Given the description of an element on the screen output the (x, y) to click on. 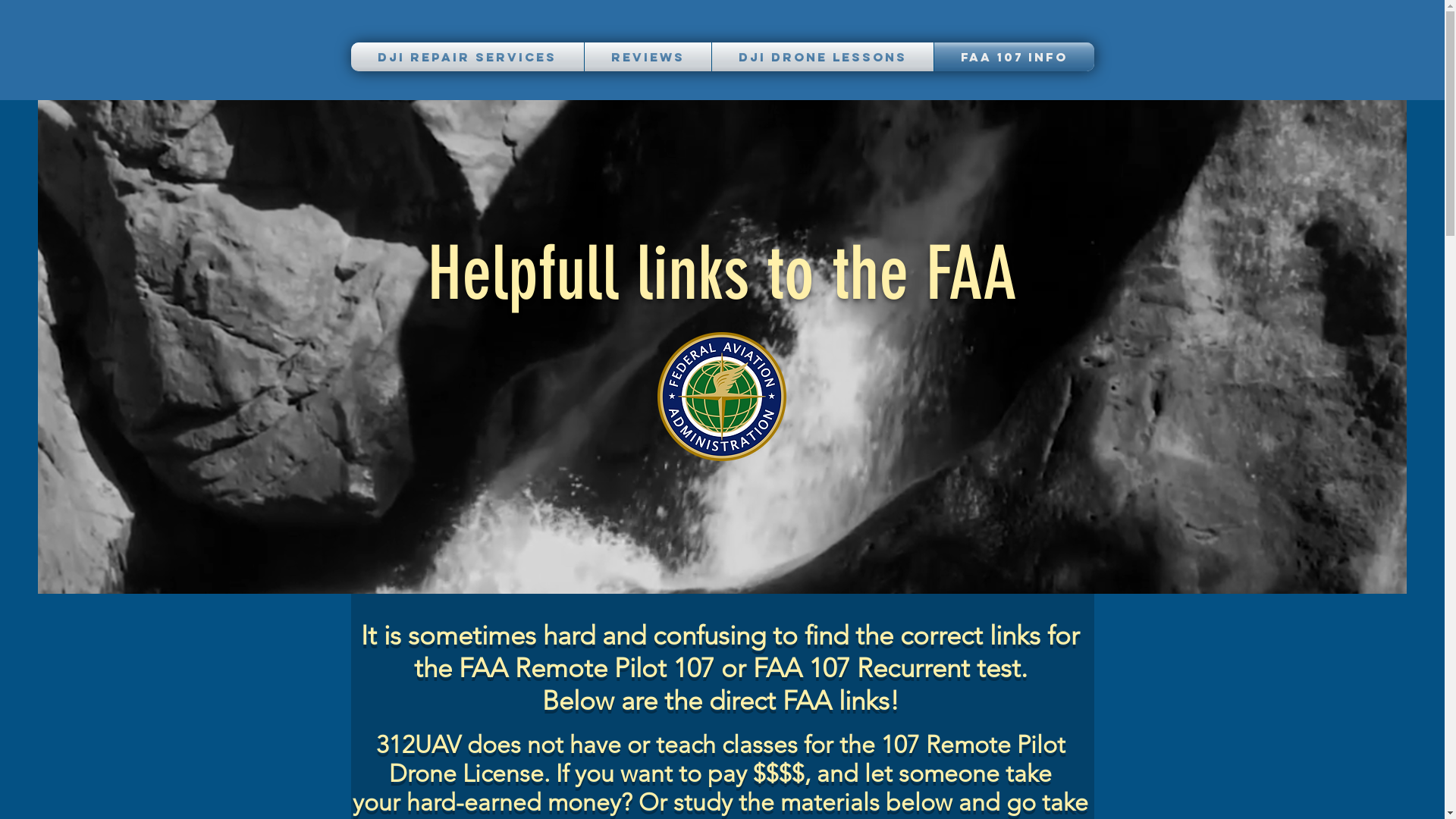
FAA 107 INFO Element type: text (1014, 56)
REVIEWS Element type: text (646, 56)
DJI Repair Services Element type: text (466, 56)
DJI Drone Lessons Element type: text (821, 56)
